Given the description of an element on the screen output the (x, y) to click on. 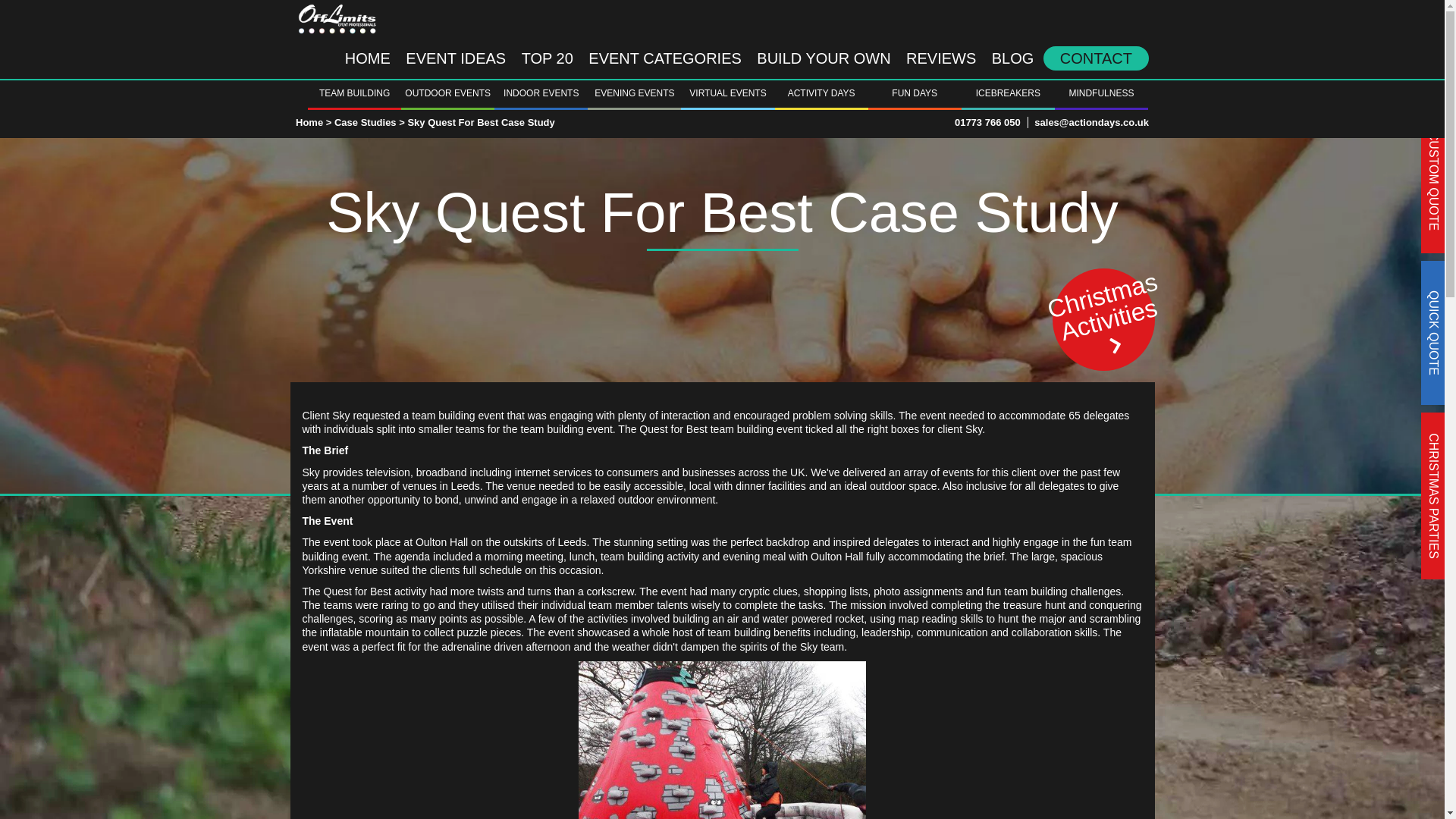
EVENT IDEAS (455, 57)
MINDFULNESS (1101, 93)
ACTIVITY DAYS (820, 93)
EVENING EVENTS (634, 93)
VIRTUAL EVENTS (727, 93)
INDOOR EVENTS (541, 93)
CONTACT (1095, 57)
BLOG (1013, 57)
REVIEWS (940, 57)
OUTDOOR EVENTS (448, 93)
